Given the description of an element on the screen output the (x, y) to click on. 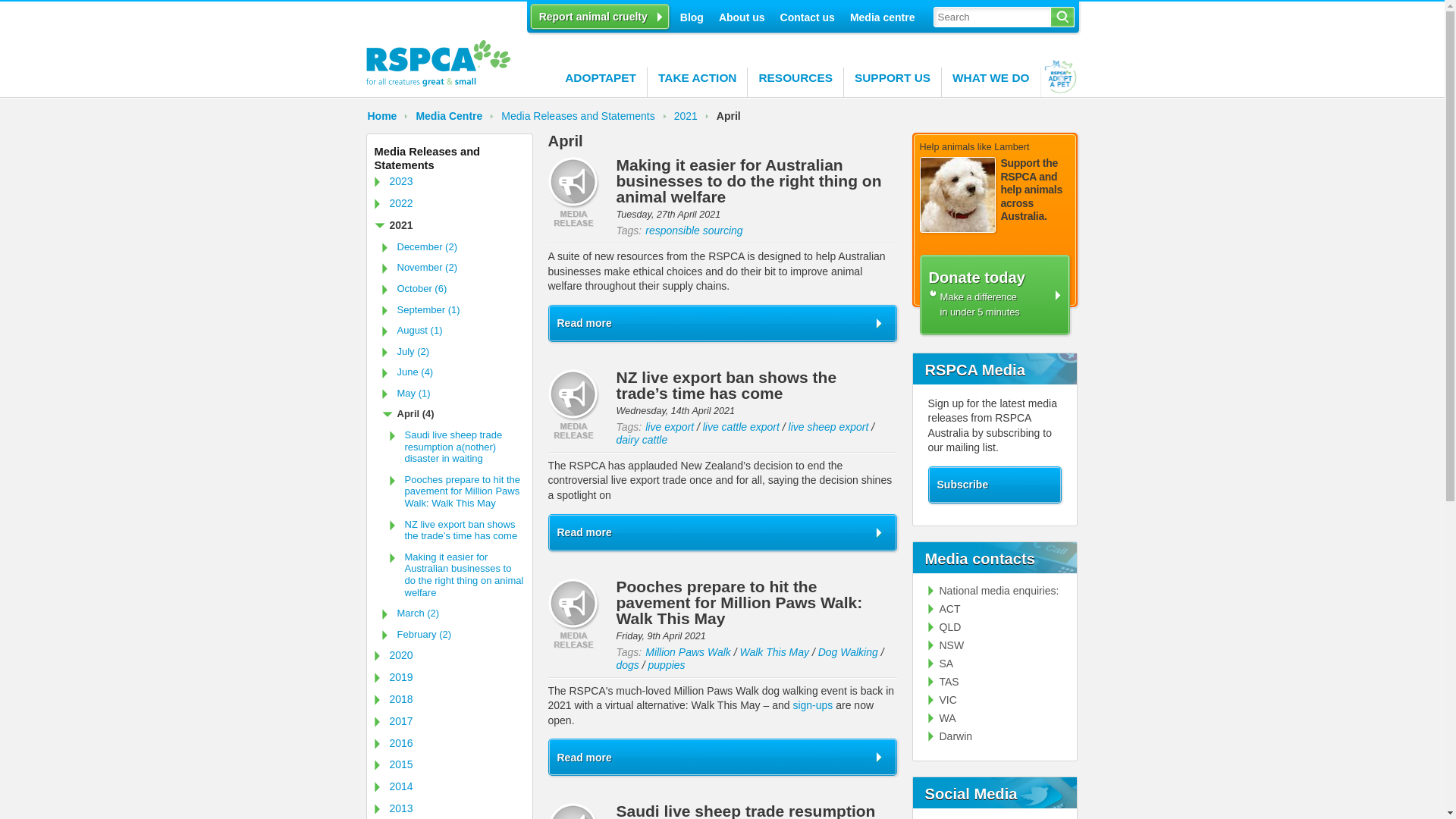
June (4) Element type: text (453, 372)
Read more Element type: text (722, 757)
2022 Element type: text (449, 203)
Subscribe Element type: text (994, 484)
2015 Element type: text (449, 764)
Read more Element type: text (722, 532)
2017 Element type: text (449, 721)
July (2) Element type: text (453, 351)
Million Paws Walk Element type: text (688, 652)
2019 Element type: text (449, 677)
October (6) Element type: text (453, 288)
December (2) Element type: text (453, 247)
August (1) Element type: text (453, 330)
Media centre Element type: text (882, 15)
Read more Element type: text (722, 323)
responsible sourcing Element type: text (693, 230)
Blog Element type: text (691, 15)
Media Releases and Statements Element type: text (449, 158)
National media enquiries: Element type: text (993, 590)
February (2) Element type: text (453, 634)
ADOPTAPET Element type: text (600, 82)
VIC Element type: text (942, 699)
2013 Element type: text (449, 808)
Contact us Element type: text (807, 15)
SA Element type: text (940, 663)
Search Element type: text (1062, 16)
WA Element type: text (942, 718)
2014 Element type: text (449, 786)
RESOURCES Element type: text (795, 82)
QLD Element type: text (944, 627)
2021 Element type: text (449, 225)
dogs Element type: text (626, 664)
November (2) Element type: text (453, 267)
live sheep export Element type: text (828, 426)
puppies Element type: text (666, 664)
Dog Walking Element type: text (848, 652)
NSW Element type: text (946, 645)
Report animal cruelty Element type: text (599, 16)
Media Releases and Statements Element type: text (583, 115)
SUPPORT US Element type: text (892, 82)
March (2) Element type: text (453, 613)
September (1) Element type: text (453, 309)
live cattle export Element type: text (740, 426)
May (1) Element type: text (453, 393)
Donate today
Make a difference
in under 5 minutes Element type: text (994, 294)
Home Element type: text (387, 115)
TAKE ACTION Element type: text (697, 82)
sign-ups Element type: text (812, 705)
2021 Element type: text (691, 115)
2018 Element type: text (449, 699)
Enter the terms you wish to search for. Element type: hover (991, 16)
ACT Element type: text (944, 608)
Media Centre Element type: text (454, 115)
2020 Element type: text (449, 655)
Darwin Element type: text (950, 736)
April (4) Element type: text (453, 413)
WHAT WE DO Element type: text (990, 82)
Walk This May Element type: text (774, 652)
About us Element type: text (741, 15)
2023 Element type: text (449, 181)
dairy cattle Element type: text (641, 439)
live export Element type: text (669, 426)
TAS Element type: text (943, 681)
Skip to main content Element type: text (48, 0)
Home Element type: hover (437, 83)
2016 Element type: text (449, 743)
